Given the description of an element on the screen output the (x, y) to click on. 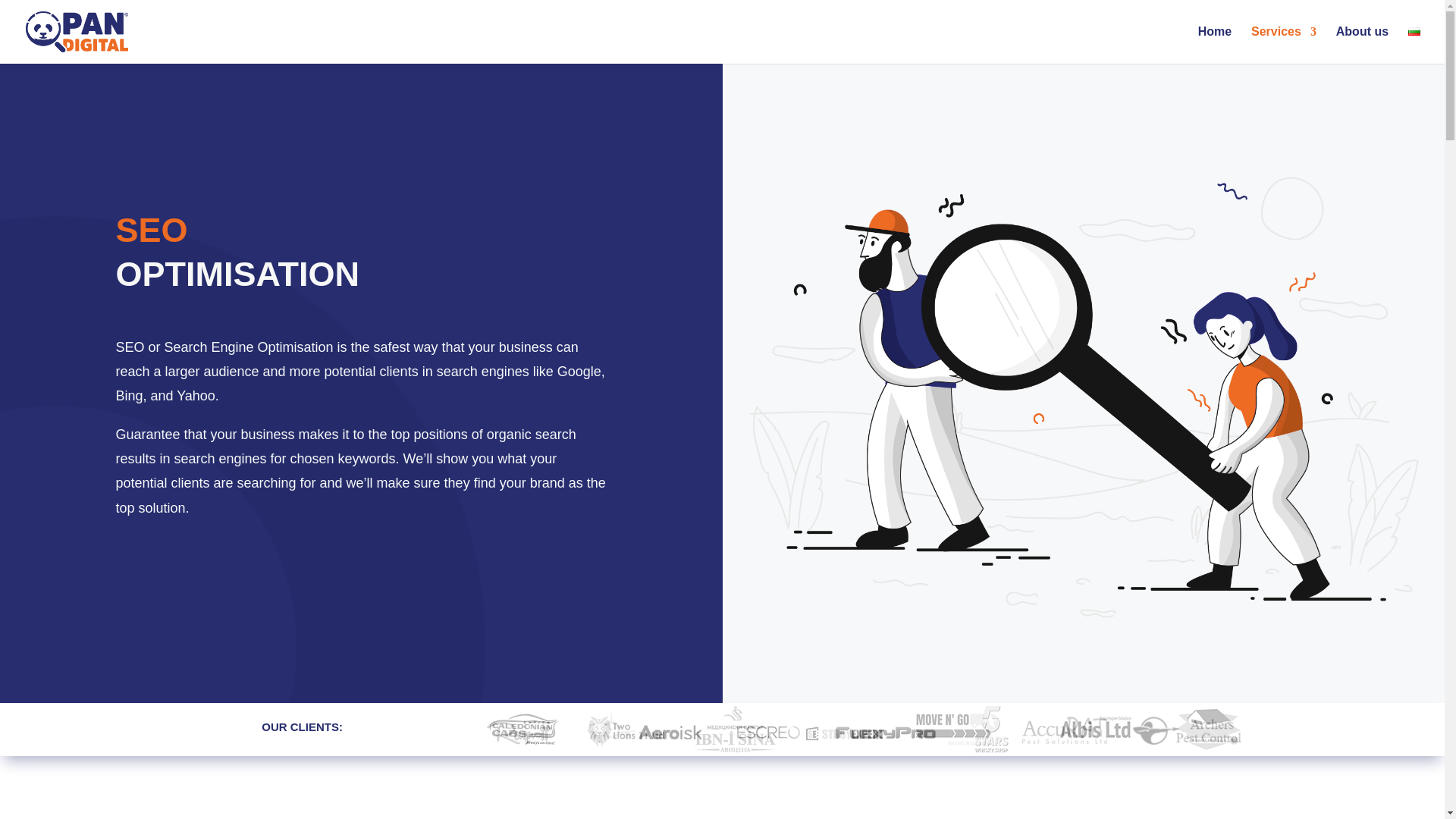
About us (1362, 44)
Services (1283, 44)
Home (1214, 44)
